Given the description of an element on the screen output the (x, y) to click on. 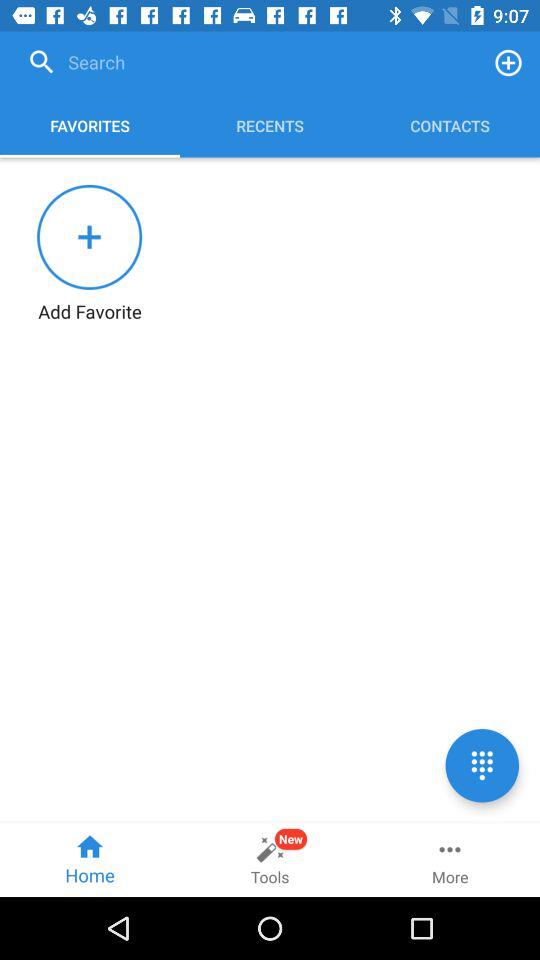
toggles a add function in the app (508, 62)
